Given the description of an element on the screen output the (x, y) to click on. 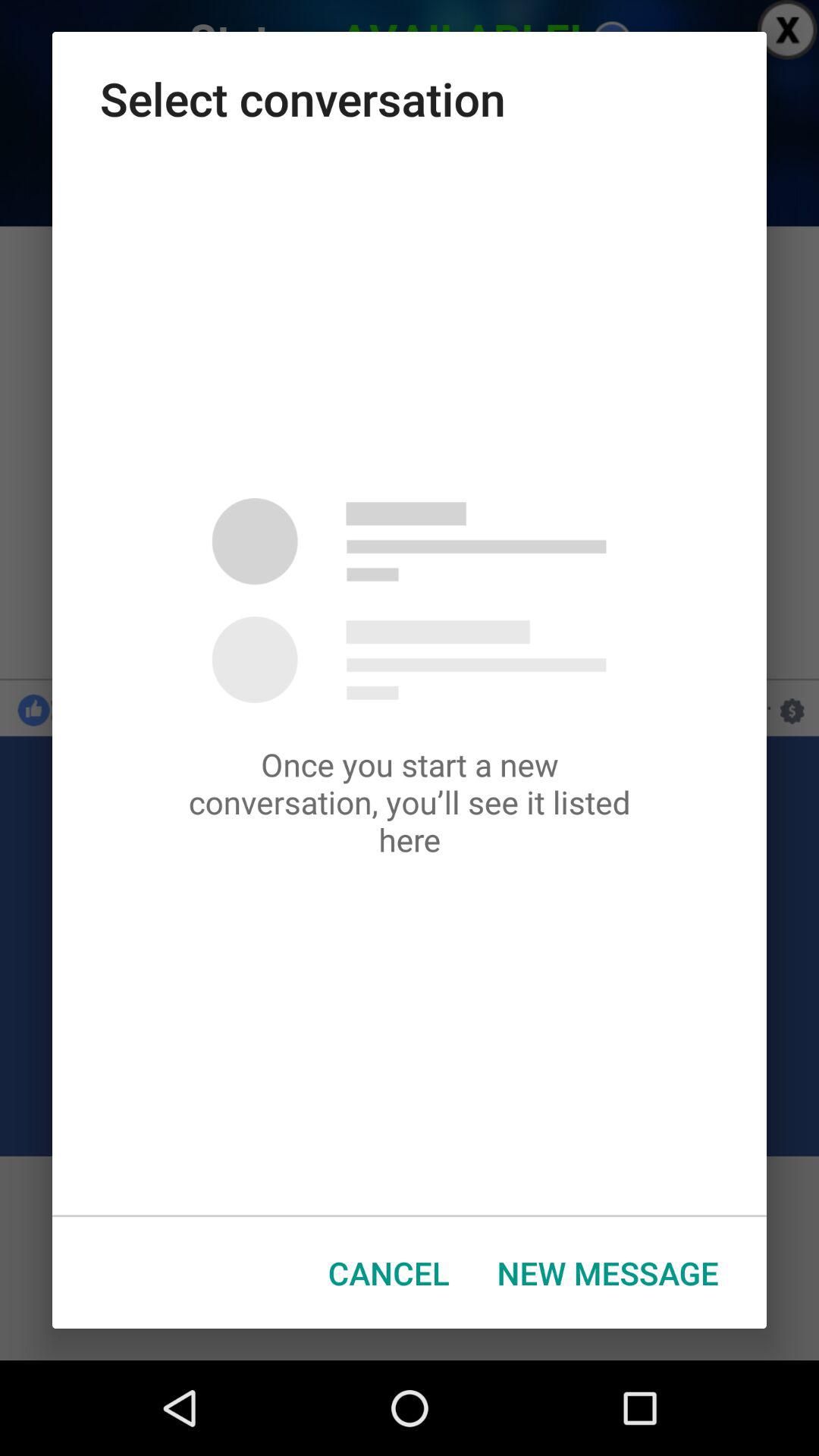
swipe until cancel button (388, 1272)
